Given the description of an element on the screen output the (x, y) to click on. 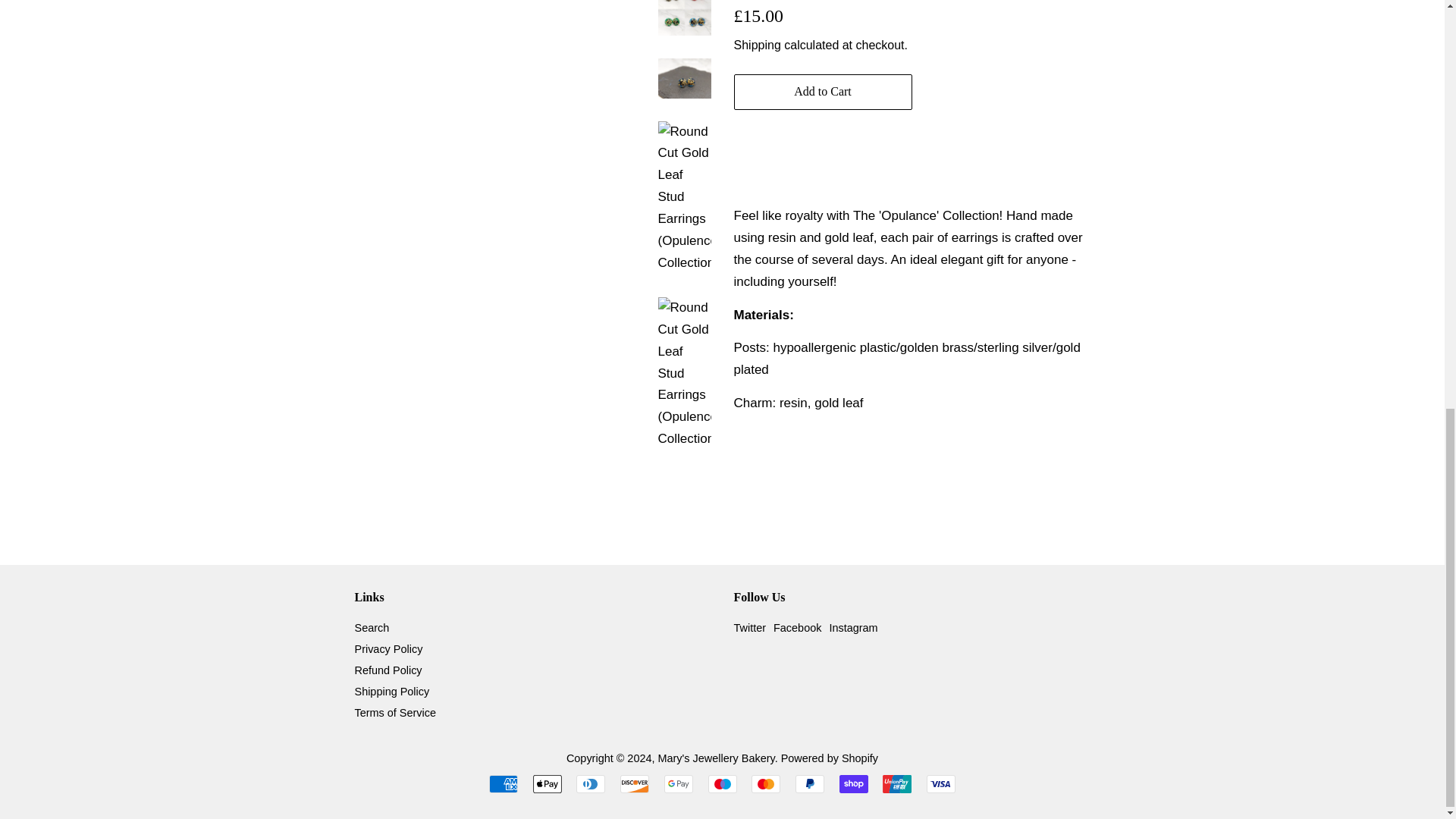
PayPal (809, 783)
Apple Pay (547, 783)
Union Pay (896, 783)
Mary's Jewellery Bakery on Facebook (797, 627)
Shop Pay (853, 783)
American Express (503, 783)
Diners Club (590, 783)
Mary's Jewellery Bakery on Twitter (750, 627)
Maestro (721, 783)
Mastercard (765, 783)
Visa (940, 783)
Google Pay (678, 783)
Discover (634, 783)
Mary's Jewellery Bakery on Instagram (852, 627)
